Given the description of an element on the screen output the (x, y) to click on. 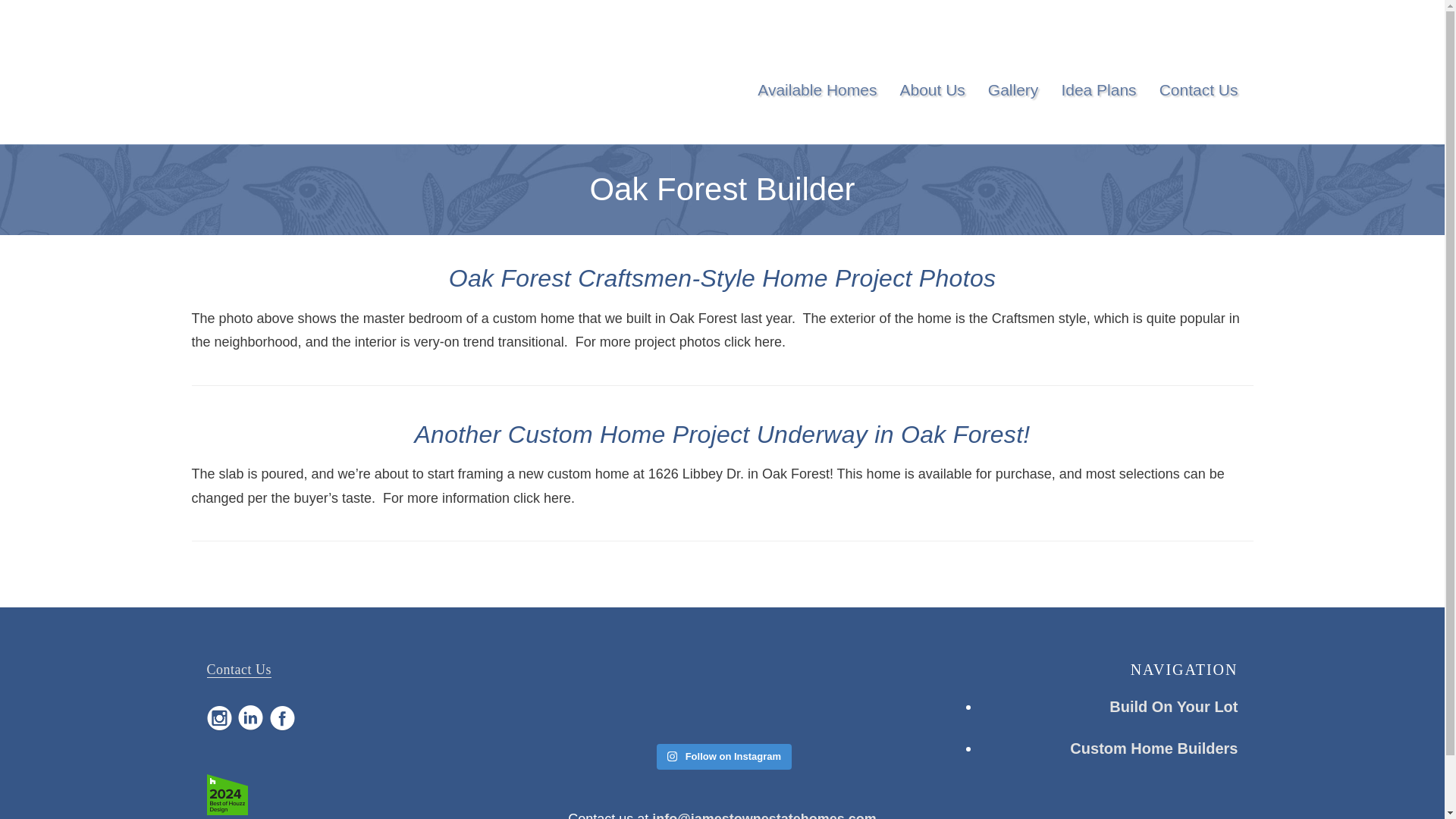
Idea Plans (1097, 90)
JAMESTOWN ESTATE HOMES (293, 79)
Contact Us (1198, 90)
Available Homes (816, 90)
Gallery (1012, 90)
About Us (931, 90)
